Given the description of an element on the screen output the (x, y) to click on. 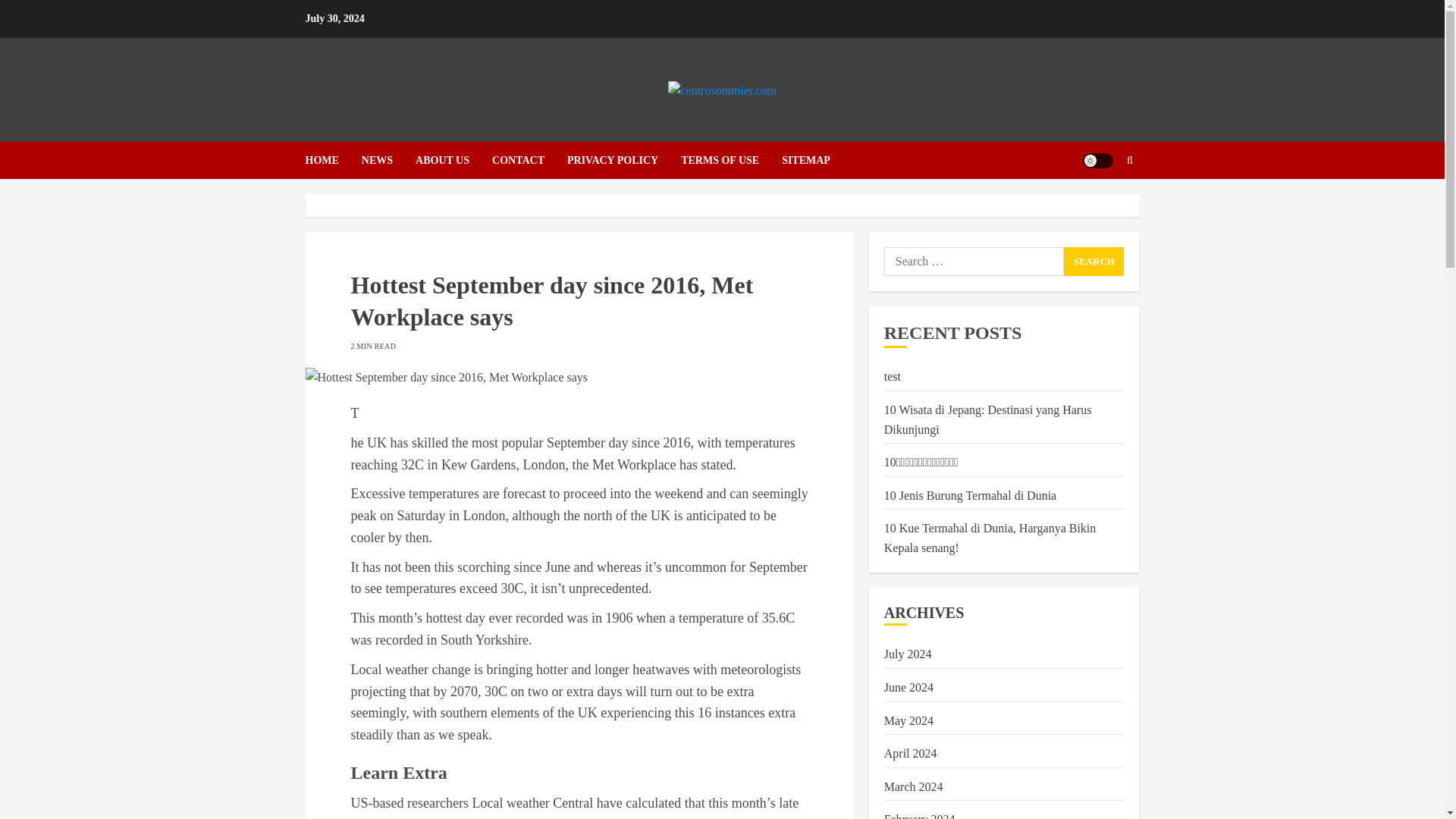
NEWS (387, 160)
CONTACT (529, 160)
Search (1099, 205)
10 Jenis Burung Termahal di Dunia (970, 495)
PRIVACY POLICY (624, 160)
HOME (332, 160)
test (892, 377)
10 Kue Termahal di Dunia, Harganya Bikin Kepala senang! (989, 538)
Search (1094, 261)
SITEMAP (805, 160)
Hottest September day since 2016, Met Workplace says (578, 377)
ABOUT US (453, 160)
TERMS OF USE (731, 160)
Search (1094, 261)
Search (1094, 261)
